Given the description of an element on the screen output the (x, y) to click on. 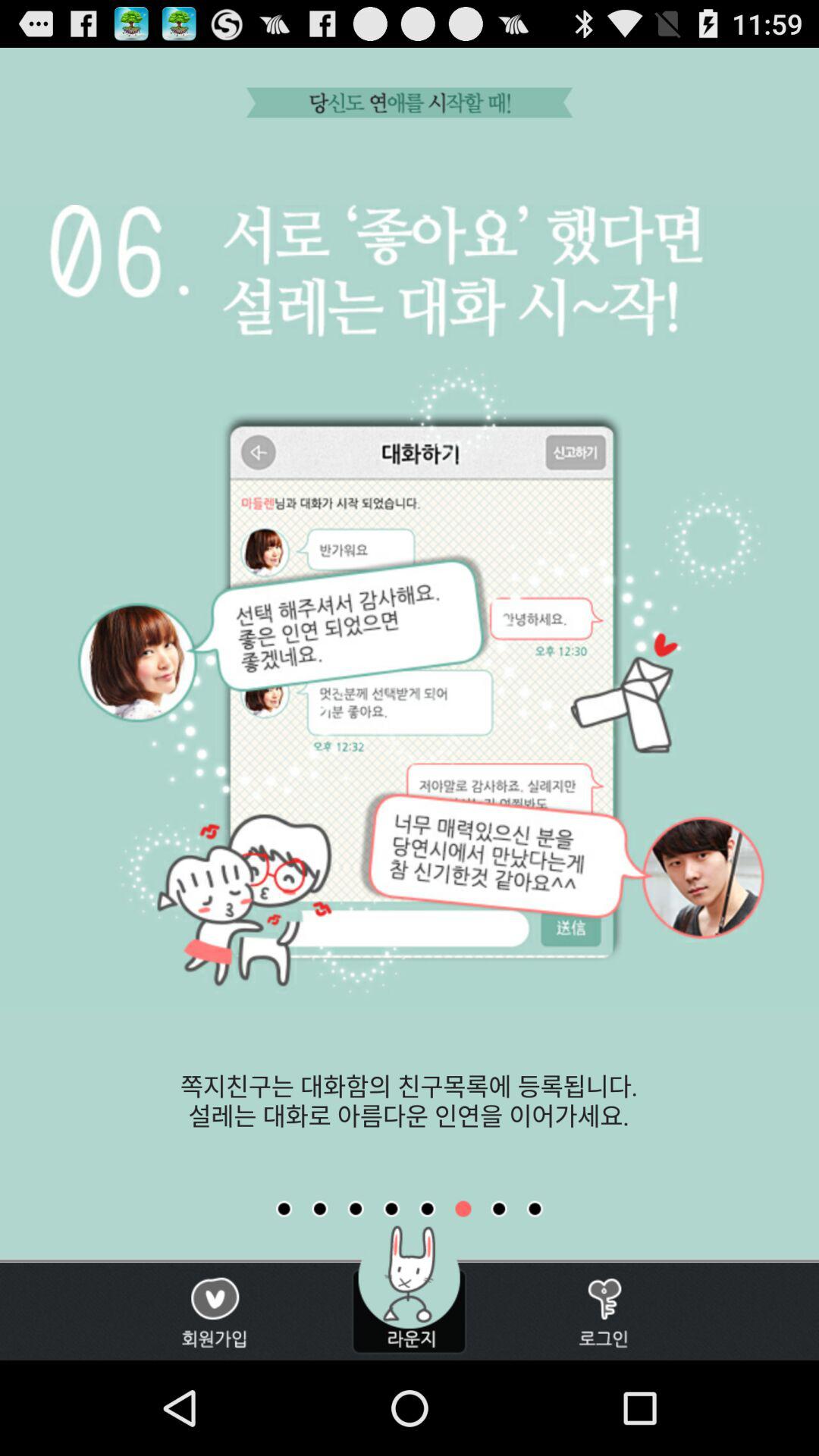
go to first slide (284, 1208)
